Given the description of an element on the screen output the (x, y) to click on. 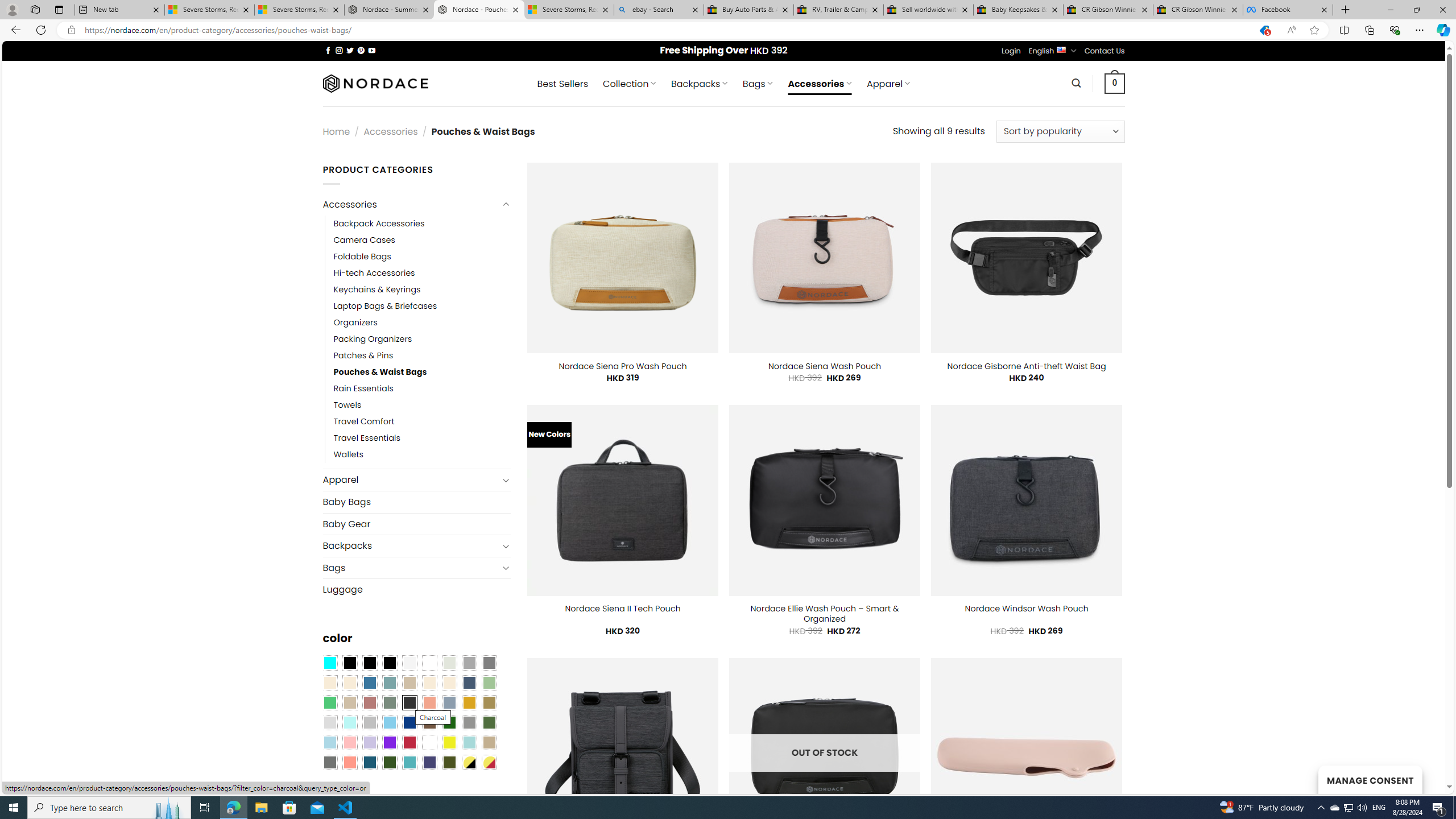
Luggage (416, 589)
Light Green (488, 681)
Luggage (416, 589)
Yellow-Black (468, 762)
Dusty Blue (449, 702)
Light Taupe (349, 702)
Gray (468, 721)
Light Gray (329, 721)
Follow on Instagram (338, 49)
